Given the description of an element on the screen output the (x, y) to click on. 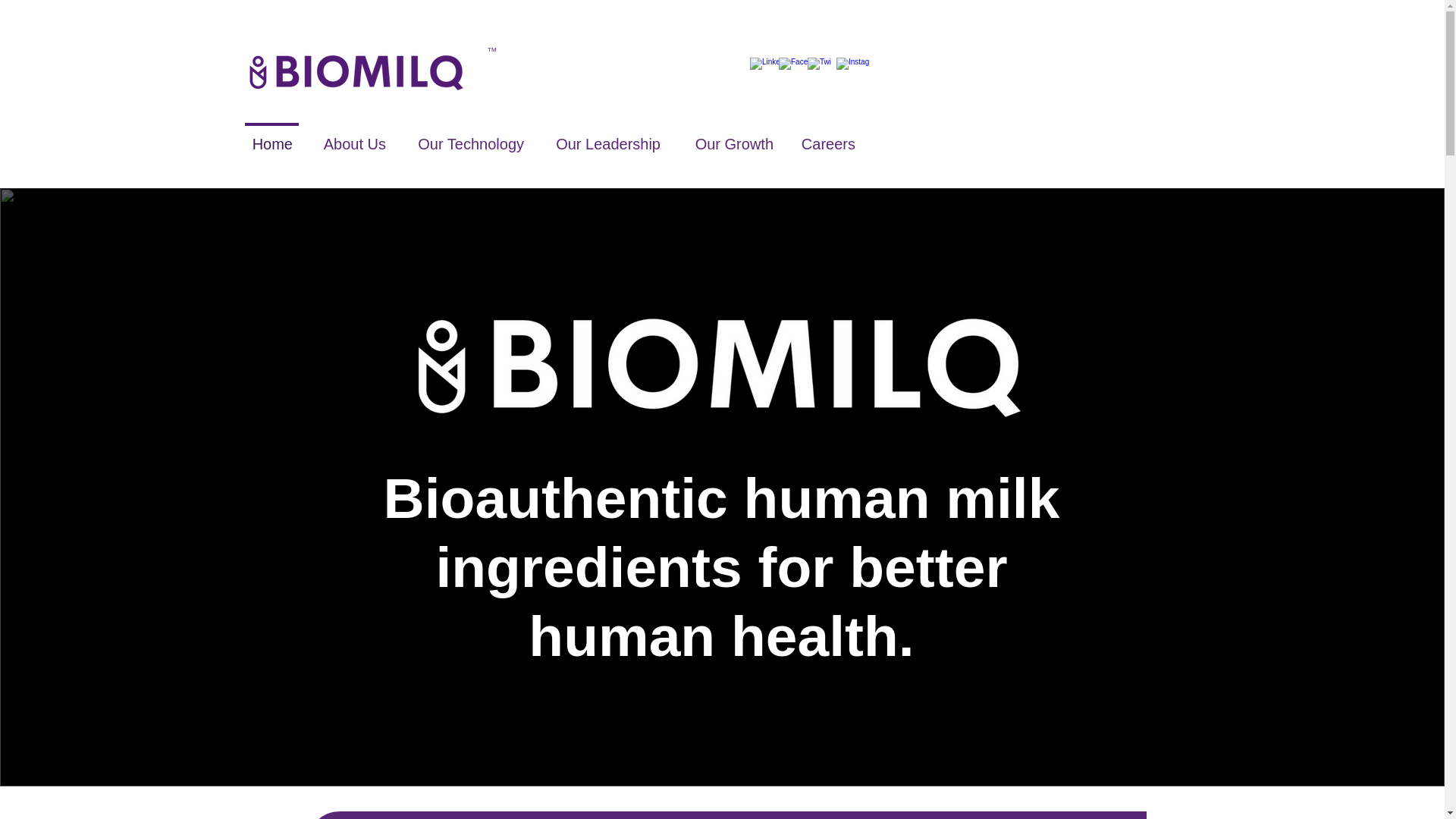
Careers (828, 137)
Our Leadership (605, 137)
Our Growth (730, 137)
Our Technology (467, 137)
About Us (351, 137)
Home (271, 137)
